Given the description of an element on the screen output the (x, y) to click on. 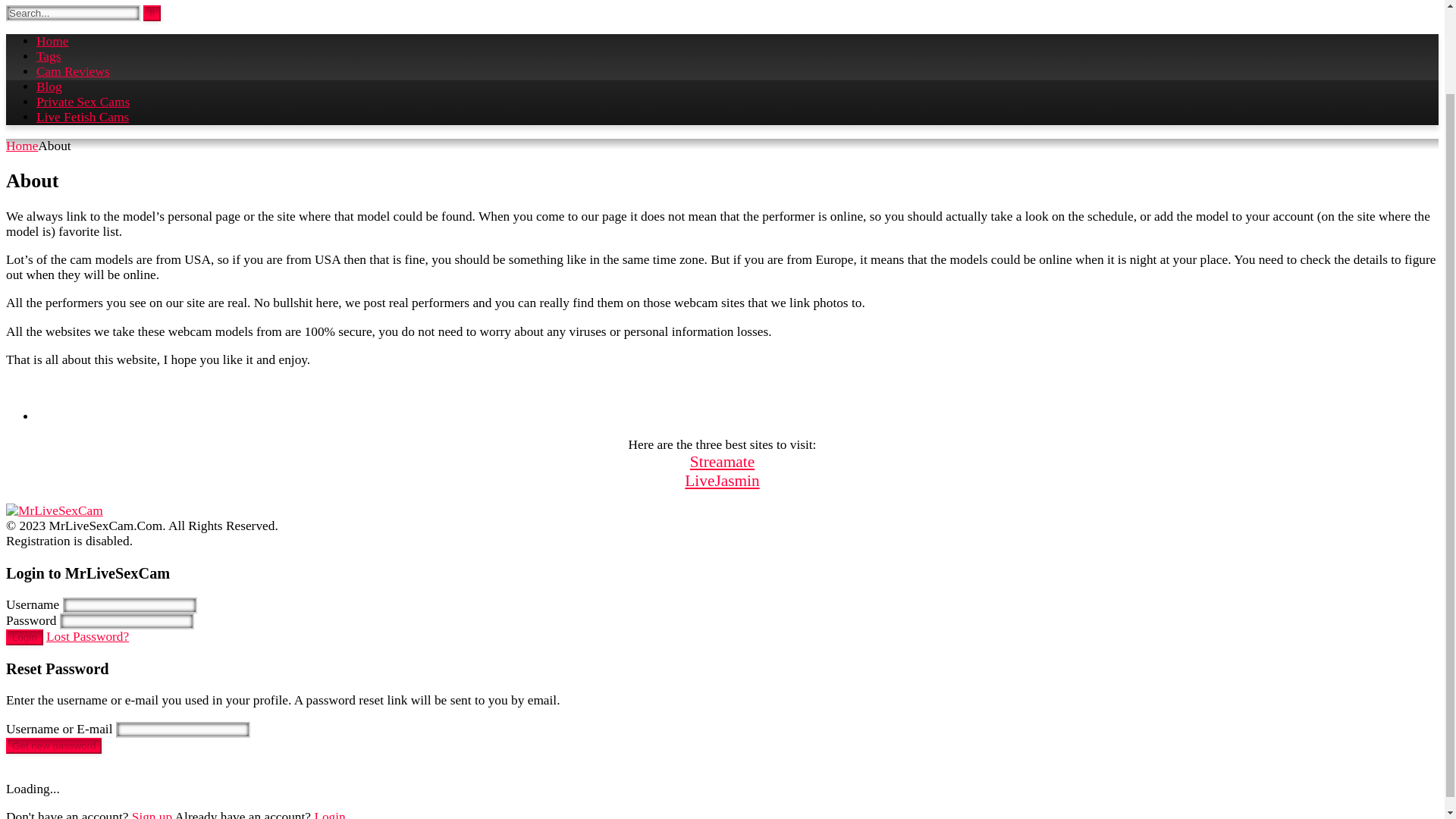
Get new password (53, 745)
Home (52, 41)
Streamate (722, 461)
Lost Password? (87, 636)
Cam Reviews (73, 71)
Home (21, 145)
MrLiveSexCam (54, 510)
Search... (72, 12)
Login (24, 637)
Live Fetish Cams (82, 116)
